Given the description of an element on the screen output the (x, y) to click on. 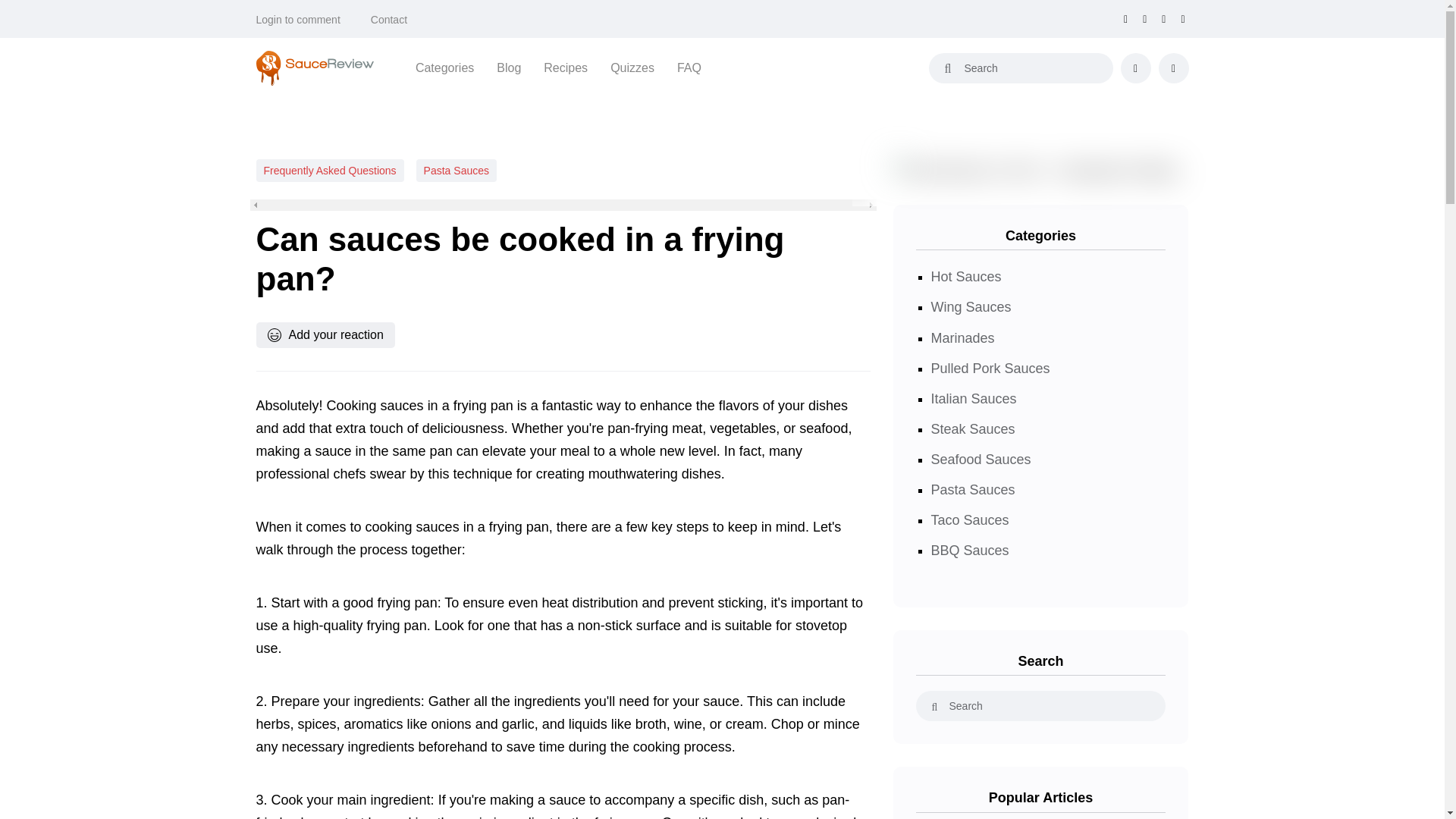
Categories (444, 67)
Login to comment (298, 19)
Contact (389, 19)
